Given the description of an element on the screen output the (x, y) to click on. 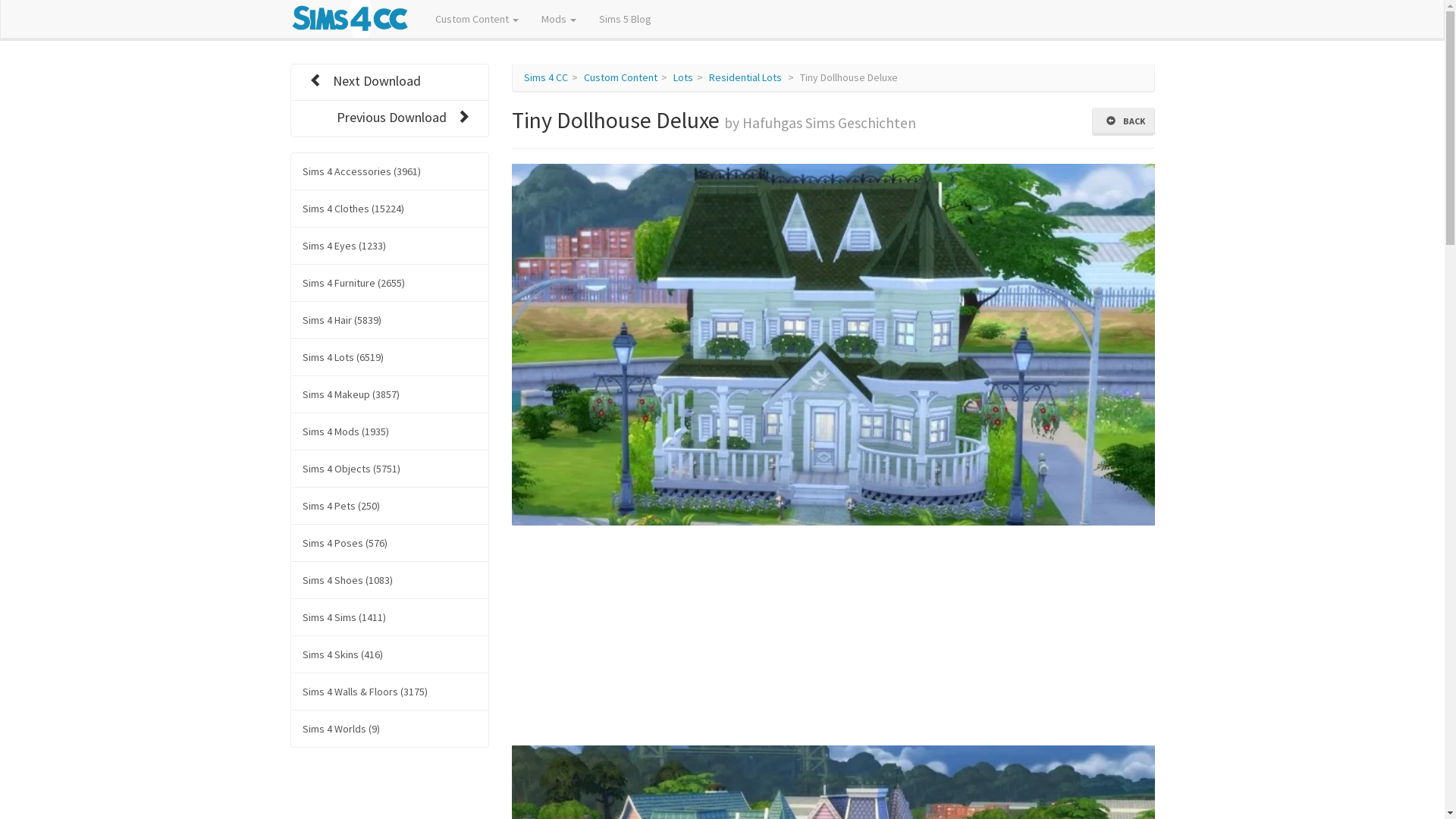
Custom Content Element type: text (476, 18)
Sims 4 Makeup (3857) Element type: text (389, 394)
Sims 4 Pets (250) Element type: text (389, 505)
Custom Content Element type: text (620, 77)
Mods Element type: text (558, 18)
Sims 4 Walls & Floors (3175) Element type: text (389, 691)
Sims 4 Skins (416) Element type: text (389, 654)
Sims 4 Worlds (9) Element type: text (389, 728)
Sims 4 Shoes (1083) Element type: text (389, 580)
Sims 4 Eyes (1233) Element type: text (389, 245)
Sims 5 Blog Element type: text (624, 18)
Sims 4 Mods (1935) Element type: text (389, 431)
Sims 4 CC Element type: hover (348, 18)
Next Download Element type: text (389, 81)
 BACK Element type: text (1123, 121)
Sims 4 Lots (6519) Element type: text (389, 357)
Sims 4 Accessories (3961) Element type: text (389, 171)
Sims 4 CC Element type: text (545, 77)
Sims 4 Poses (576) Element type: text (389, 542)
Lots Element type: text (683, 77)
Previous Download Element type: text (389, 118)
Residential Lots Element type: text (745, 77)
Sims 4 Clothes (15224) Element type: text (389, 208)
Sims 4 Furniture (2655) Element type: text (389, 282)
Sims 4 Sims (1411) Element type: text (389, 617)
Sims 4 Hair (5839) Element type: text (389, 319)
Advertisement Element type: hover (832, 639)
Sims 4 Objects (5751) Element type: text (389, 468)
